Given the description of an element on the screen output the (x, y) to click on. 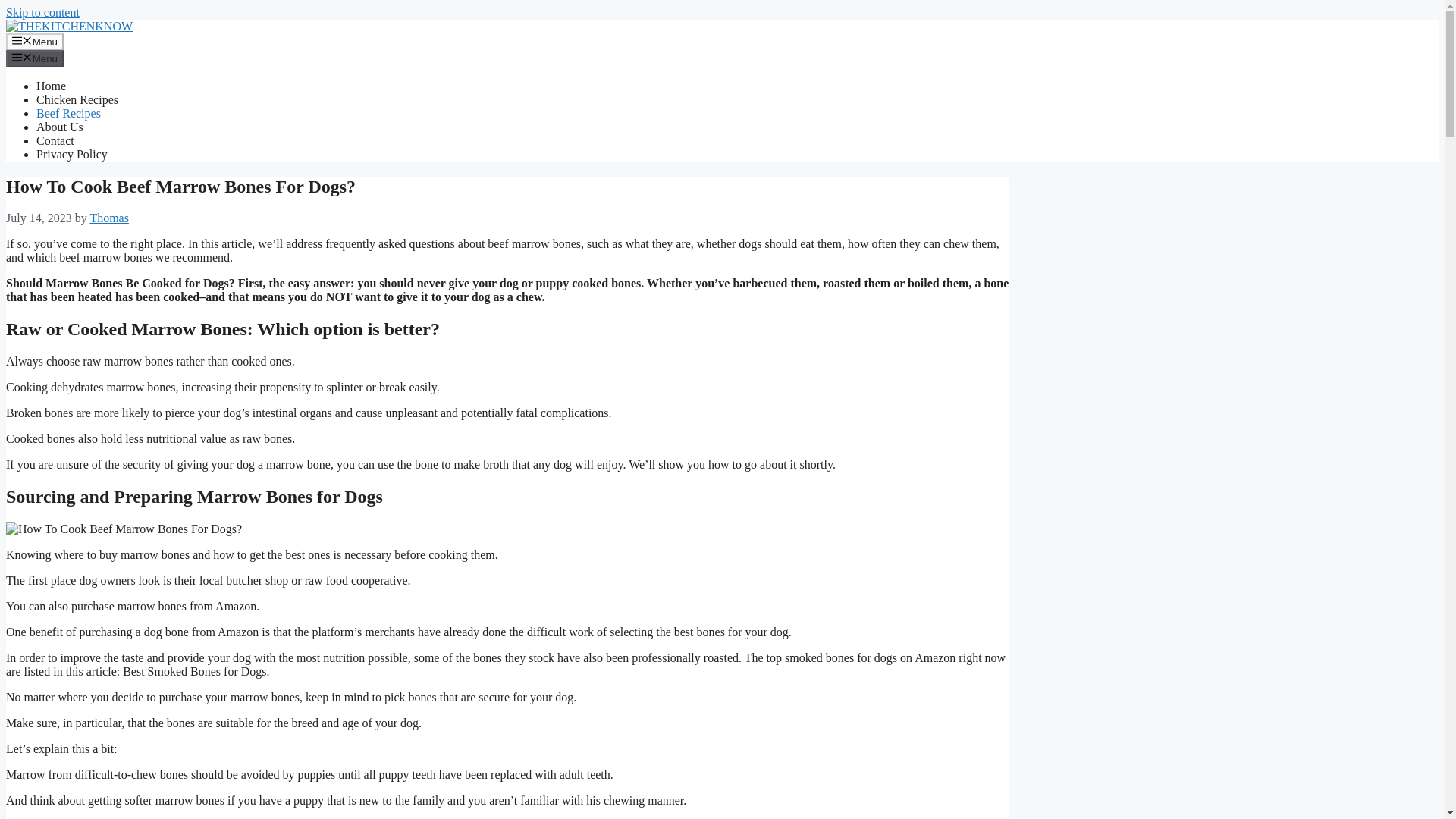
Beef Recipes (68, 113)
Skip to content (42, 11)
Chicken Recipes (76, 99)
View all posts by Thomas (108, 217)
Menu (34, 57)
Thomas (108, 217)
About Us (59, 126)
Contact (55, 140)
Home (50, 85)
Privacy Policy (71, 154)
